Given the description of an element on the screen output the (x, y) to click on. 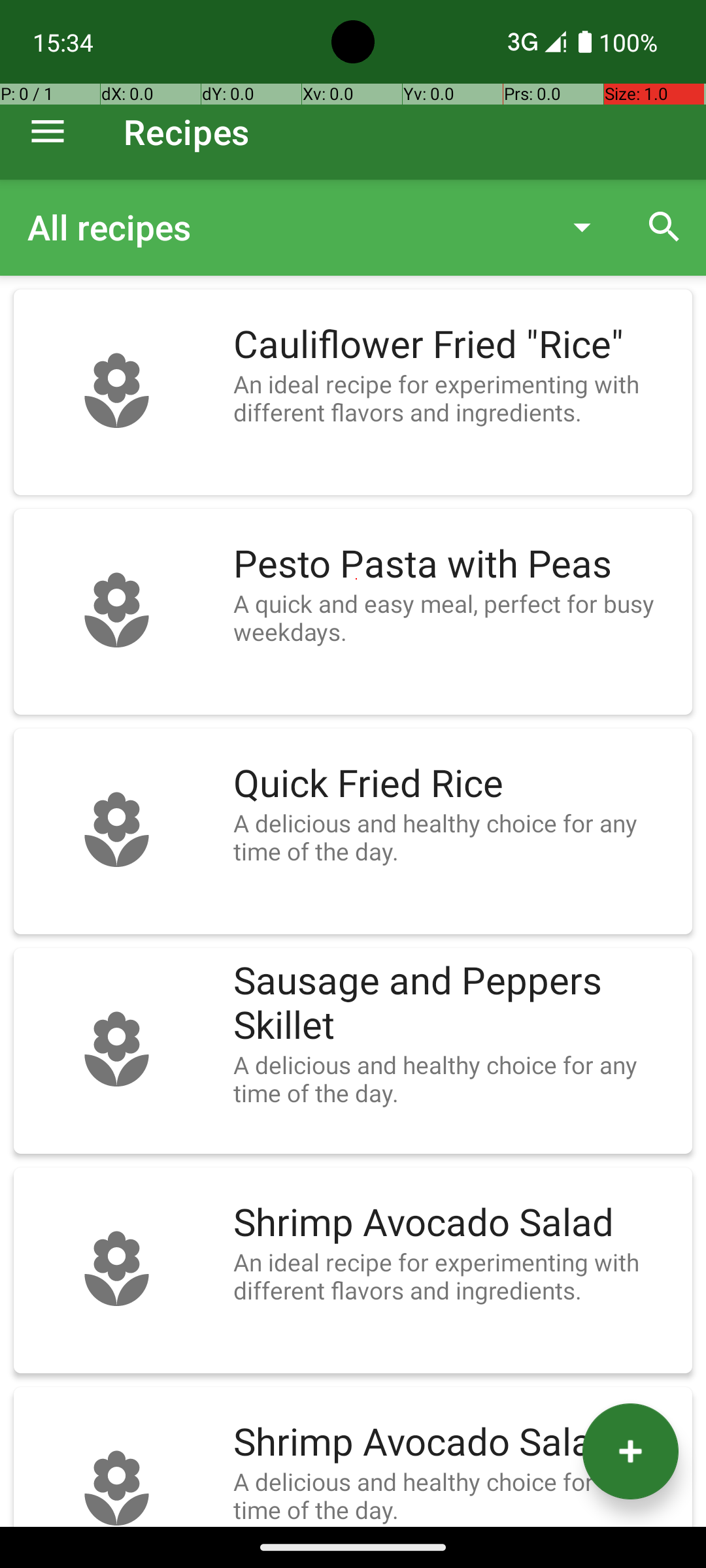
Cauliflower Fried "Rice" Element type: android.widget.TextView (455, 344)
Pesto Pasta with Peas Element type: android.widget.TextView (455, 564)
Quick Fried Rice Element type: android.widget.TextView (455, 783)
Sausage and Peppers Skillet Element type: android.widget.TextView (455, 1003)
Shrimp Avocado Salad Element type: android.widget.TextView (455, 1222)
